Given the description of an element on the screen output the (x, y) to click on. 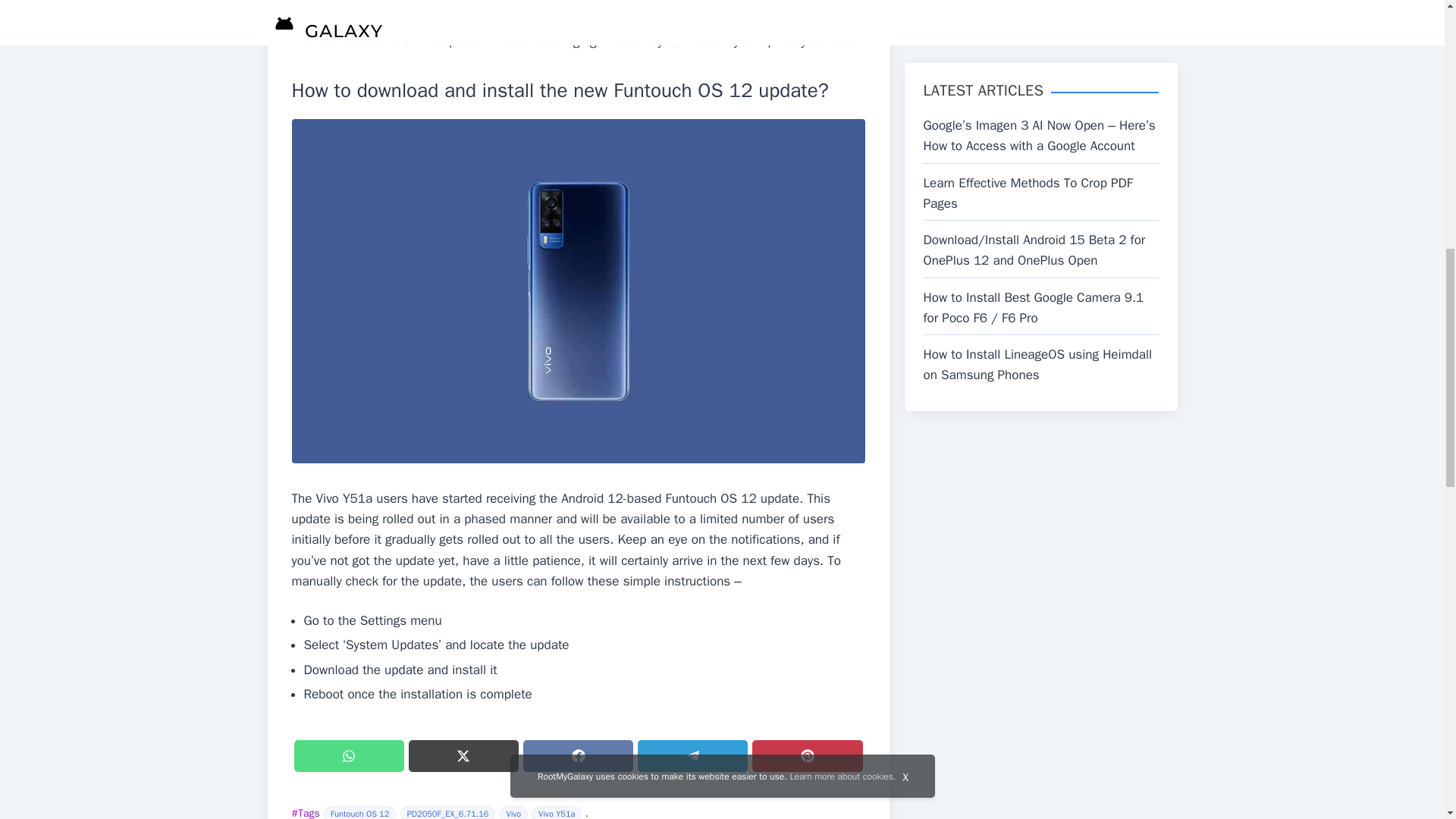
Share on WhatsApp (349, 756)
Vivo (513, 812)
Share on Pinterest (806, 756)
Funtouch OS 12 (359, 812)
Vivo Y51a (555, 812)
Share on Facebook (577, 756)
Share on Telegram (692, 756)
